Given the description of an element on the screen output the (x, y) to click on. 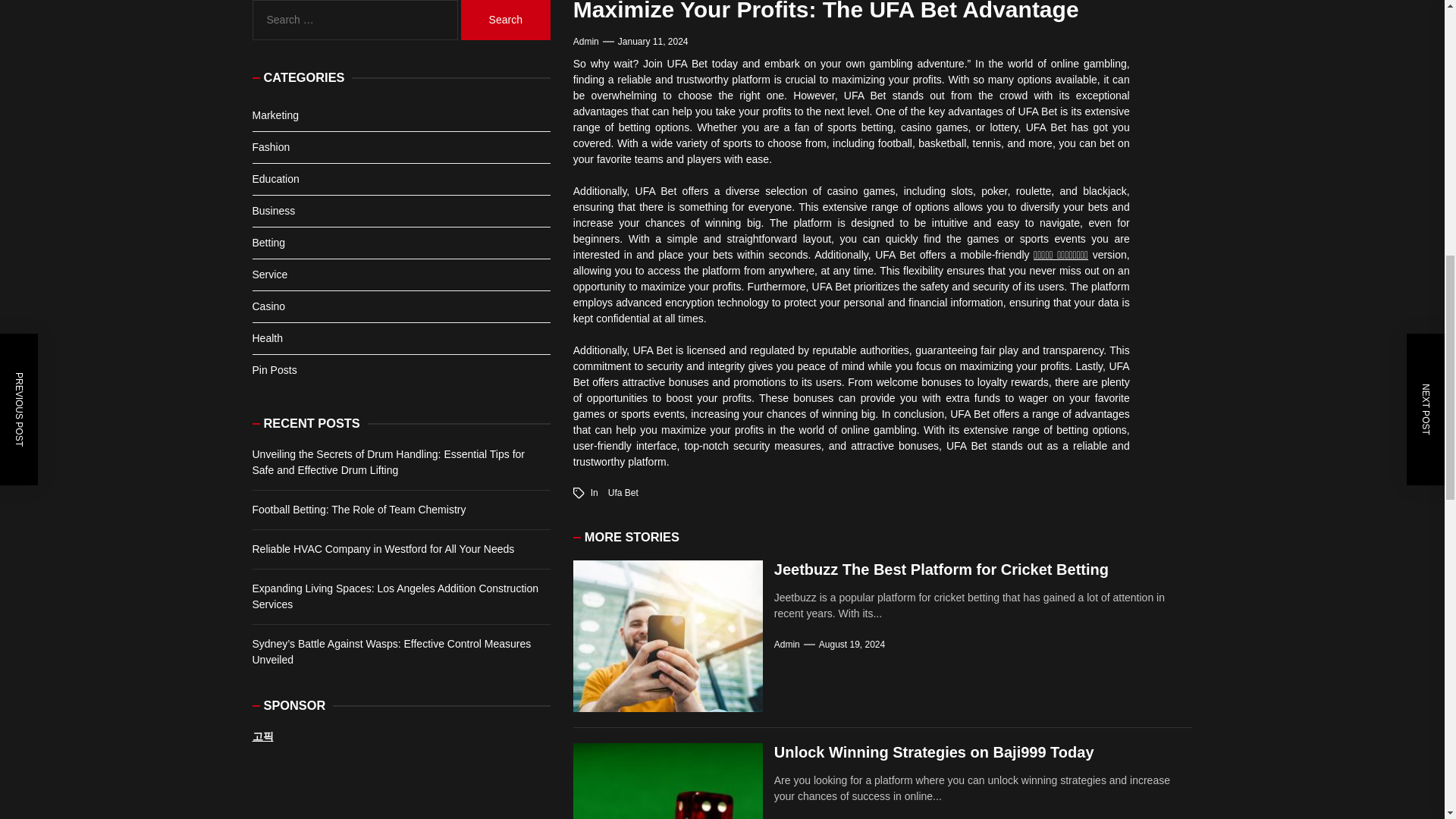
Ufa Bet (623, 492)
January 11, 2024 (652, 41)
Admin (585, 41)
